Given the description of an element on the screen output the (x, y) to click on. 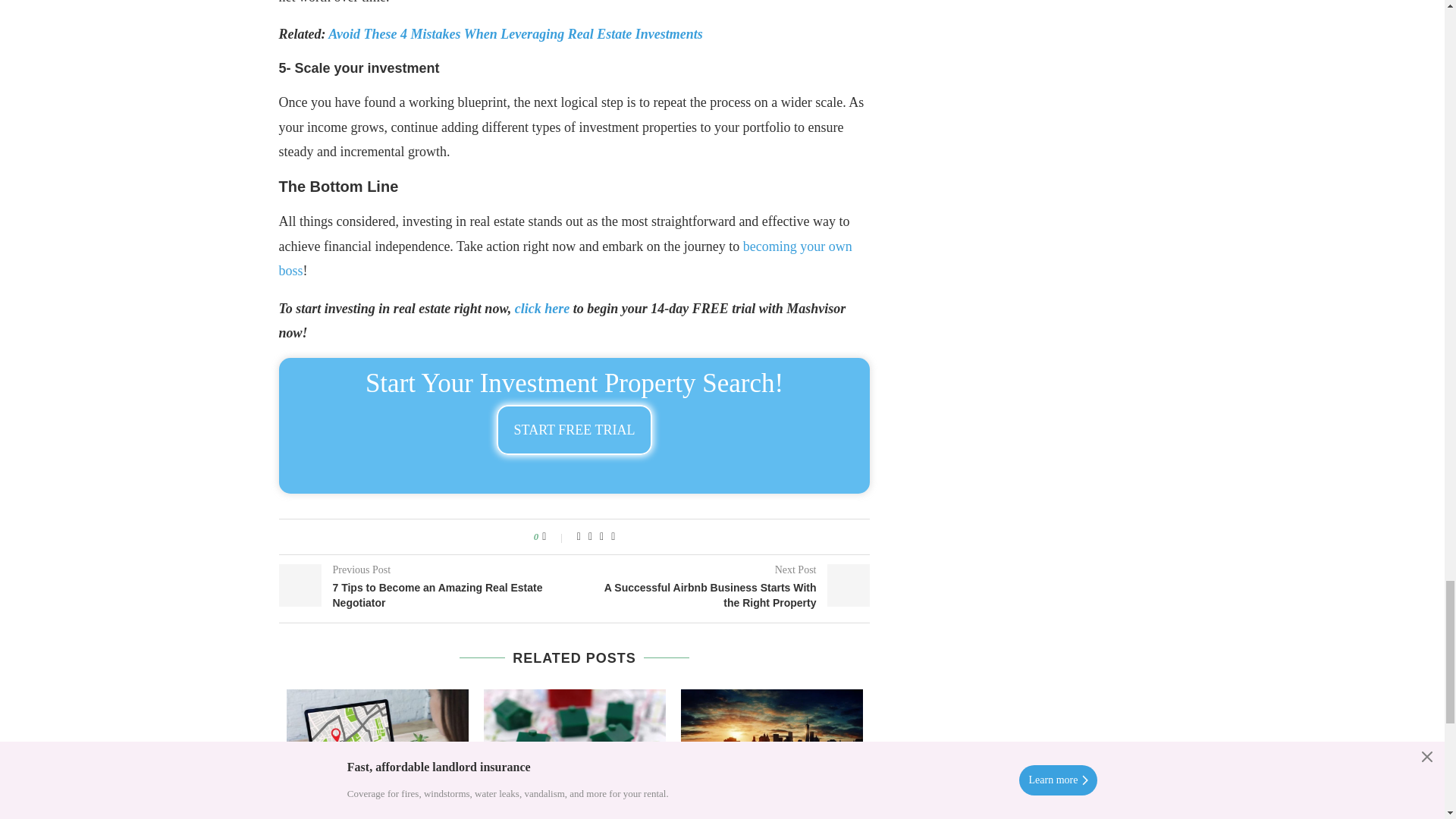
Like (553, 536)
